Given the description of an element on the screen output the (x, y) to click on. 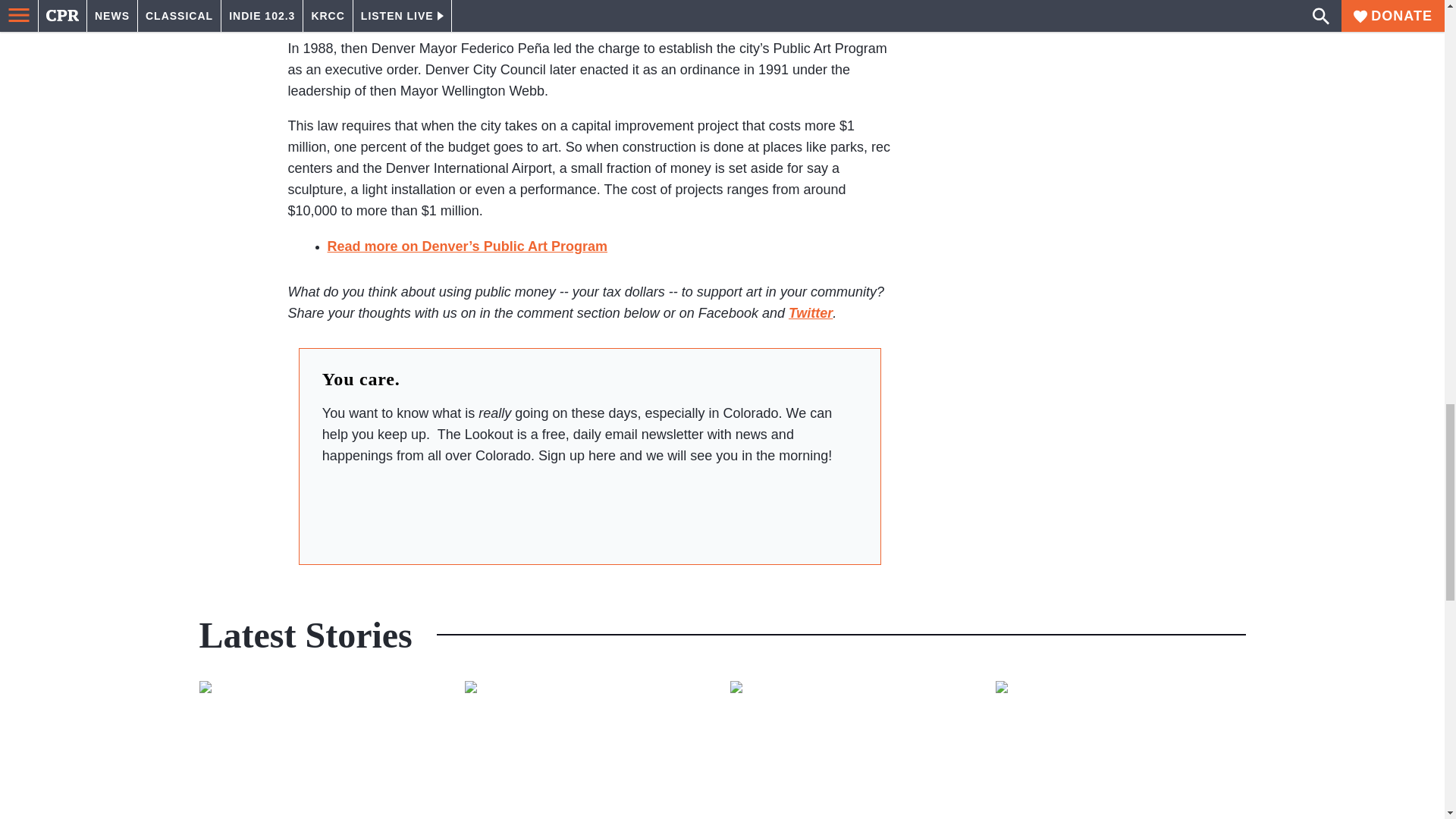
newsArticleSignup (589, 509)
